Given the description of an element on the screen output the (x, y) to click on. 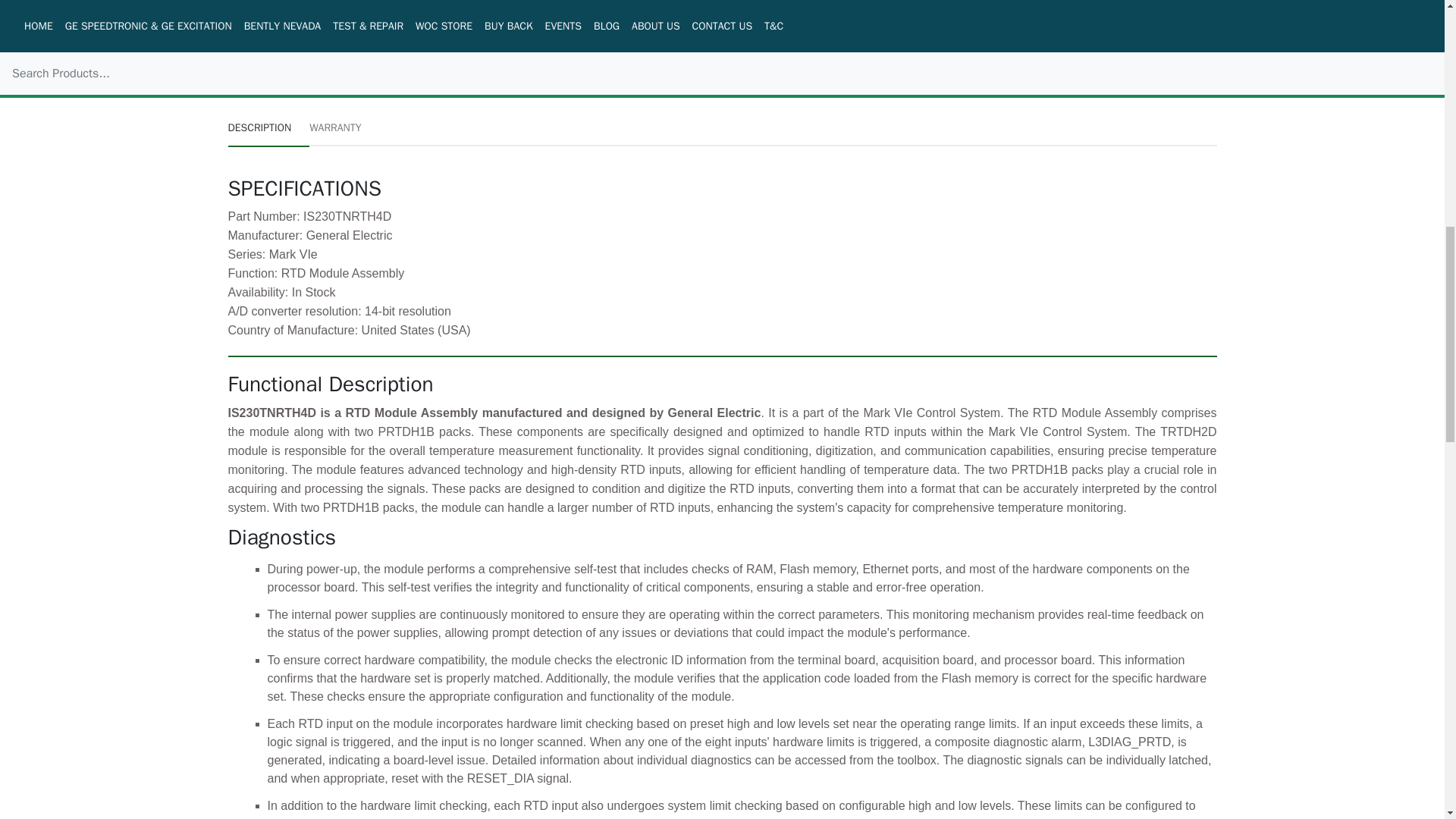
IS230STAI2AH01 - MARK VIE (633, 16)
DESCRIPTION (267, 127)
WARRANTY (334, 127)
